Given the description of an element on the screen output the (x, y) to click on. 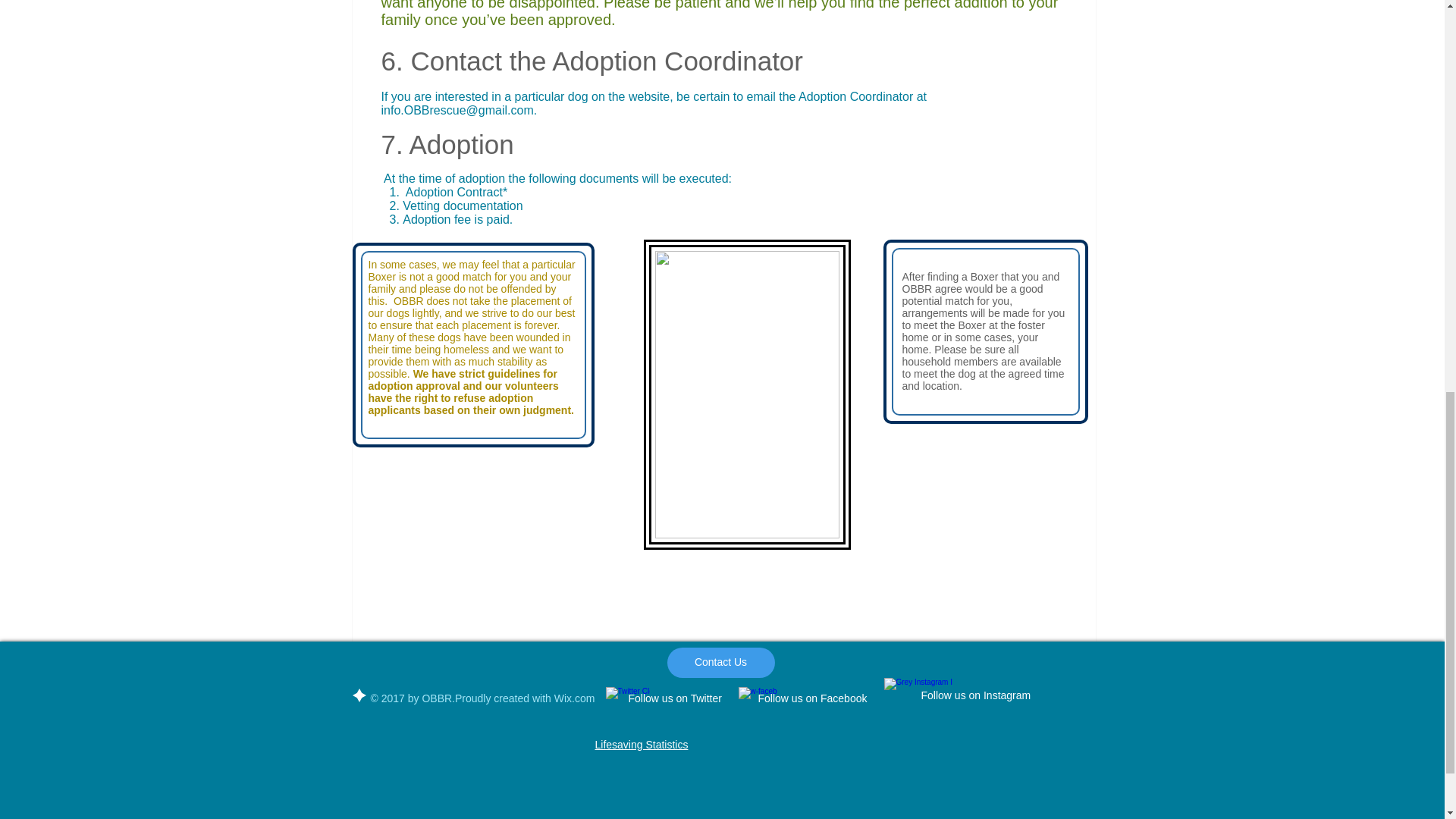
Contact Us (720, 662)
Wix.com (574, 698)
Lifesaving Statistics (640, 744)
